Given the description of an element on the screen output the (x, y) to click on. 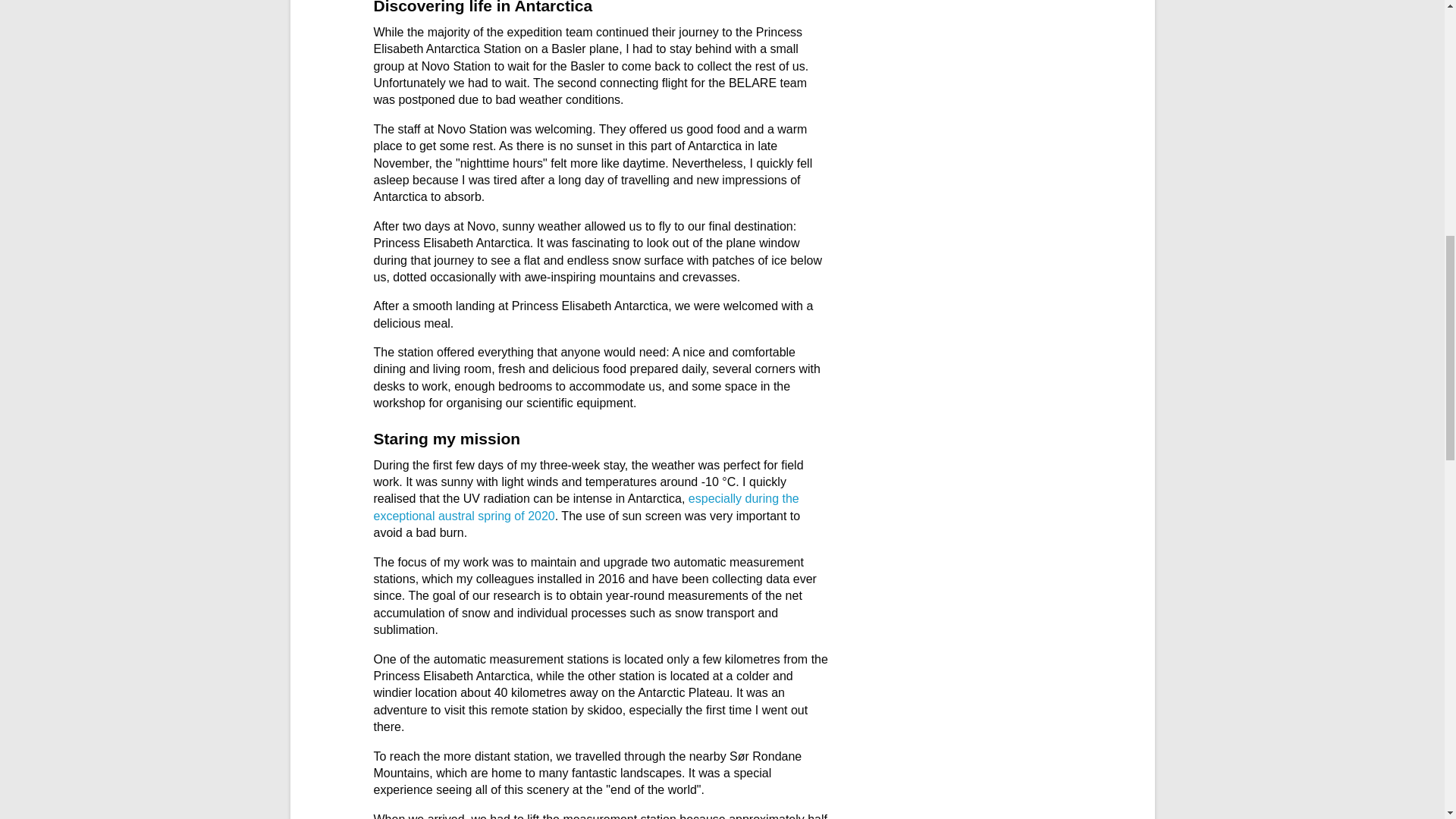
especially during the exceptional austral spring of 2020 (584, 506)
